Given the description of an element on the screen output the (x, y) to click on. 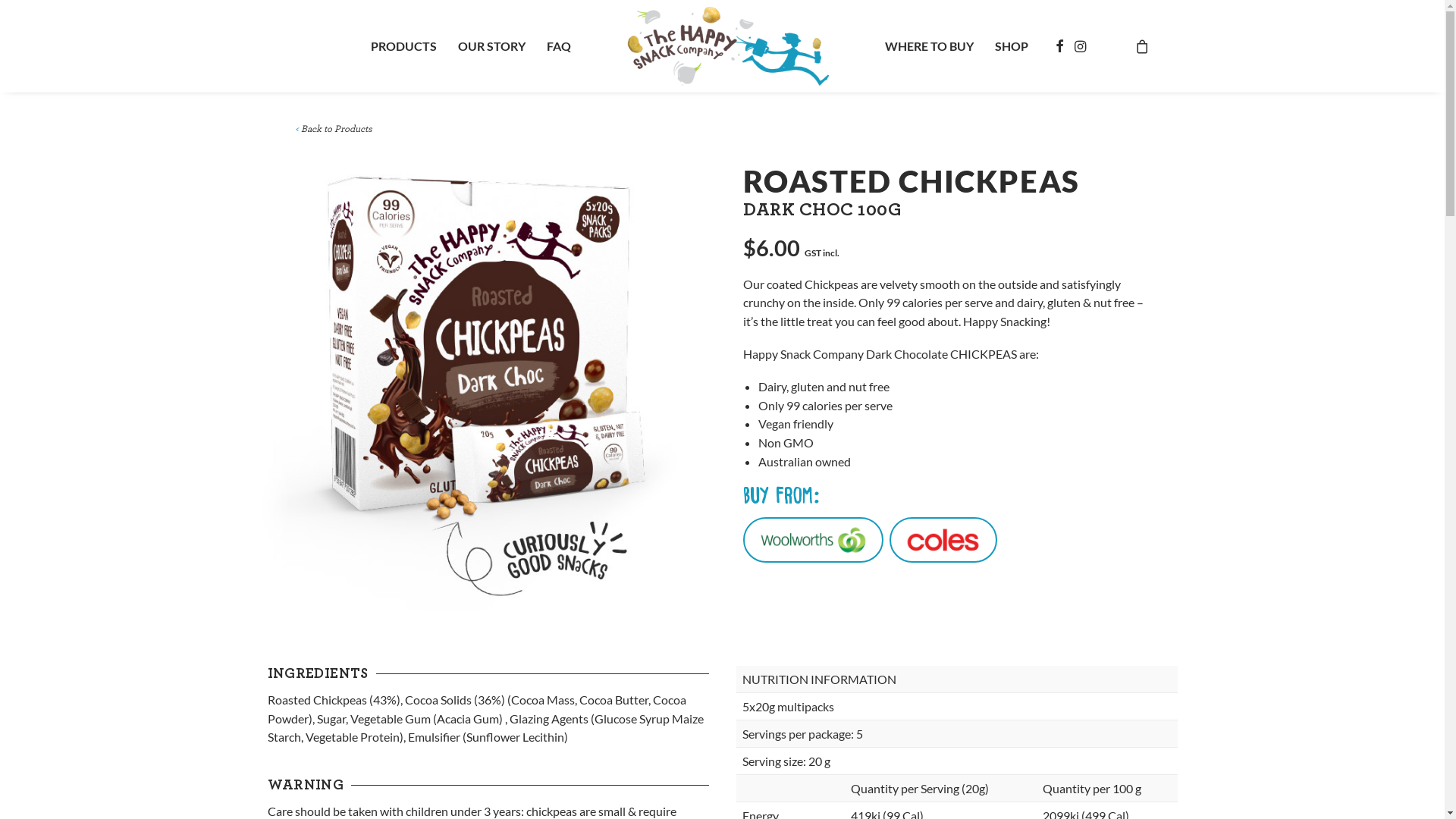
PRODUCTS Element type: text (403, 46)
OUR STORY Element type: text (491, 46)
FAQ Element type: text (558, 46)
< Back to Products Element type: text (332, 129)
cart Element type: hover (1141, 46)
WHERE TO BUY Element type: text (929, 46)
SHOP Element type: text (1011, 46)
